Given the description of an element on the screen output the (x, y) to click on. 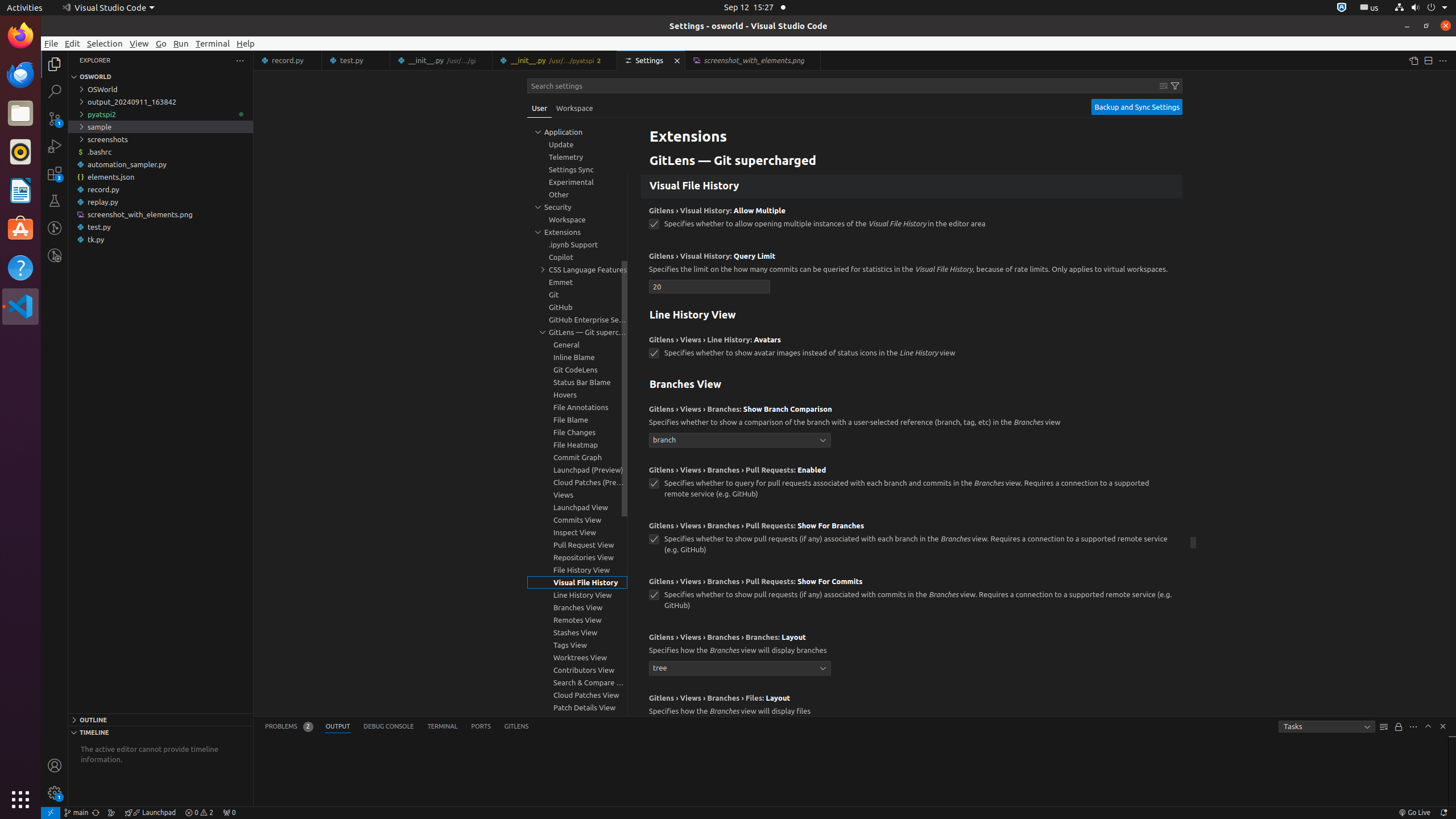
gitlens.views.lineHistory.avatars Element type: check-box (653, 353)
Turn Auto Scrolling Off Element type: check-box (1398, 726)
test.py Element type: tree-item (160, 226)
Run and Debug (Ctrl+Shift+D) Element type: page-tab (54, 145)
automation_sampler.py Element type: tree-item (160, 164)
